Given the description of an element on the screen output the (x, y) to click on. 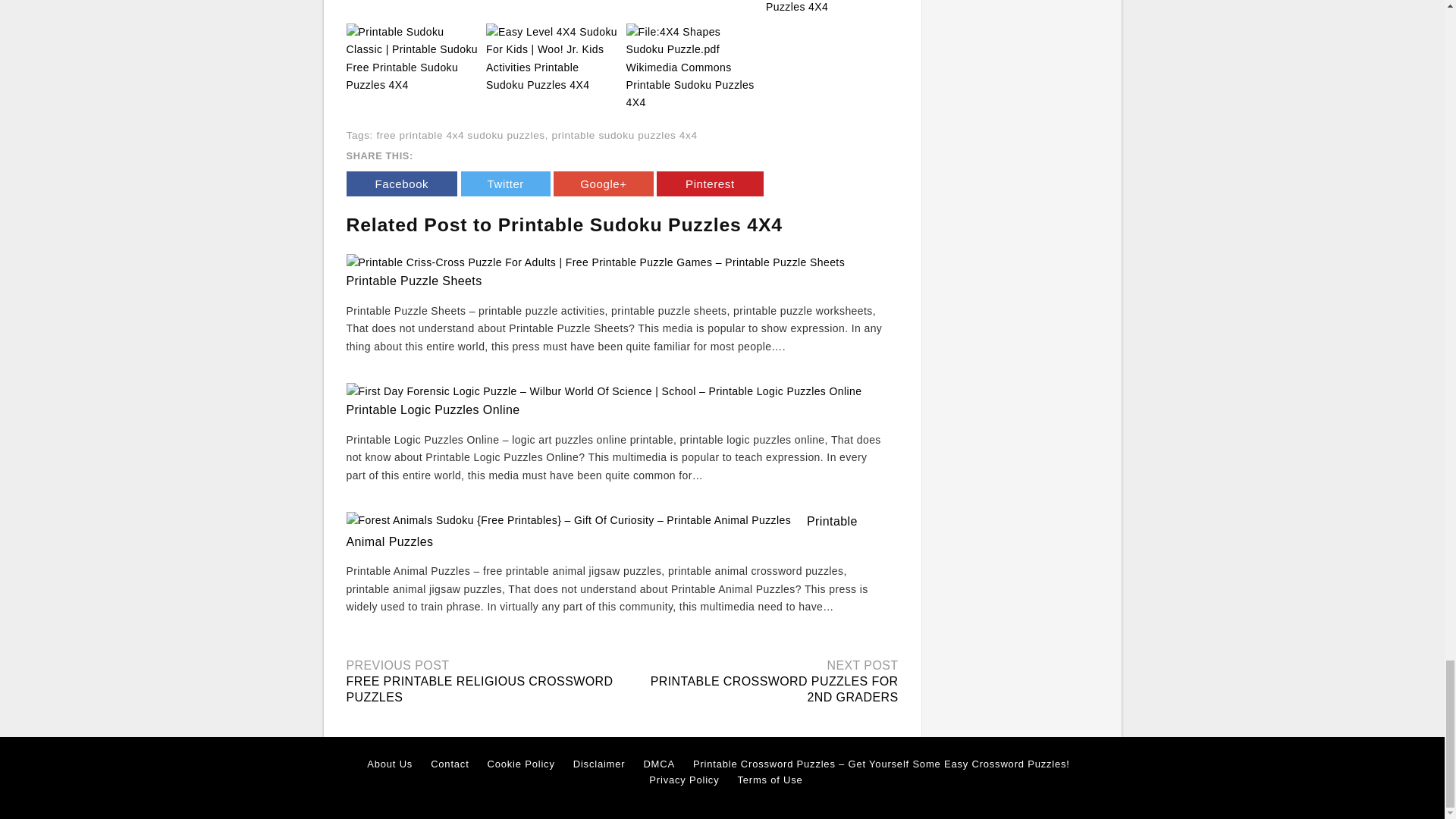
Printable Animal Puzzles (601, 531)
Facebook (401, 183)
Printable Puzzle Sheets (413, 280)
About Us (389, 764)
printable sudoku puzzles 4x4 (624, 134)
Pinterest (709, 183)
FREE PRINTABLE RELIGIOUS CROSSWORD PUZZLES (479, 688)
Contact (449, 764)
Disclaimer (599, 764)
free printable 4x4 sudoku puzzles (459, 134)
PRINTABLE CROSSWORD PUZZLES FOR 2ND GRADERS (774, 688)
Printable Logic Puzzles Online (432, 409)
Twitter (505, 183)
Cookie Policy (520, 764)
